Given the description of an element on the screen output the (x, y) to click on. 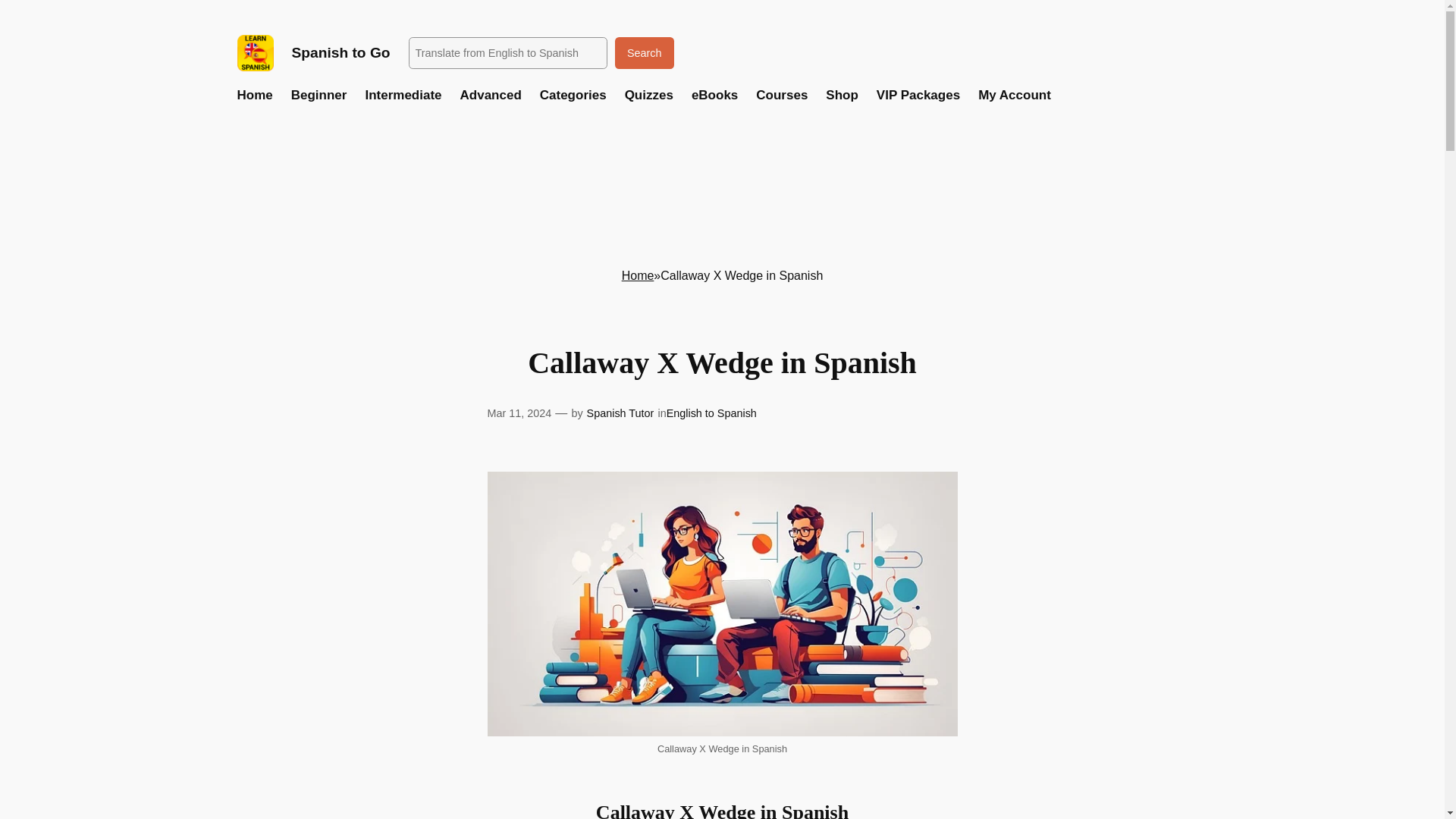
Spanish Tutor (619, 413)
eBooks (714, 95)
Advanced (490, 95)
Categories (573, 95)
Search (644, 52)
My Account (1014, 95)
Shop (842, 95)
Home (253, 95)
Courses (781, 95)
Intermediate (403, 95)
Home (637, 275)
Mar 11, 2024 (518, 413)
Spanish to Go (340, 52)
VIP Packages (917, 95)
